Given the description of an element on the screen output the (x, y) to click on. 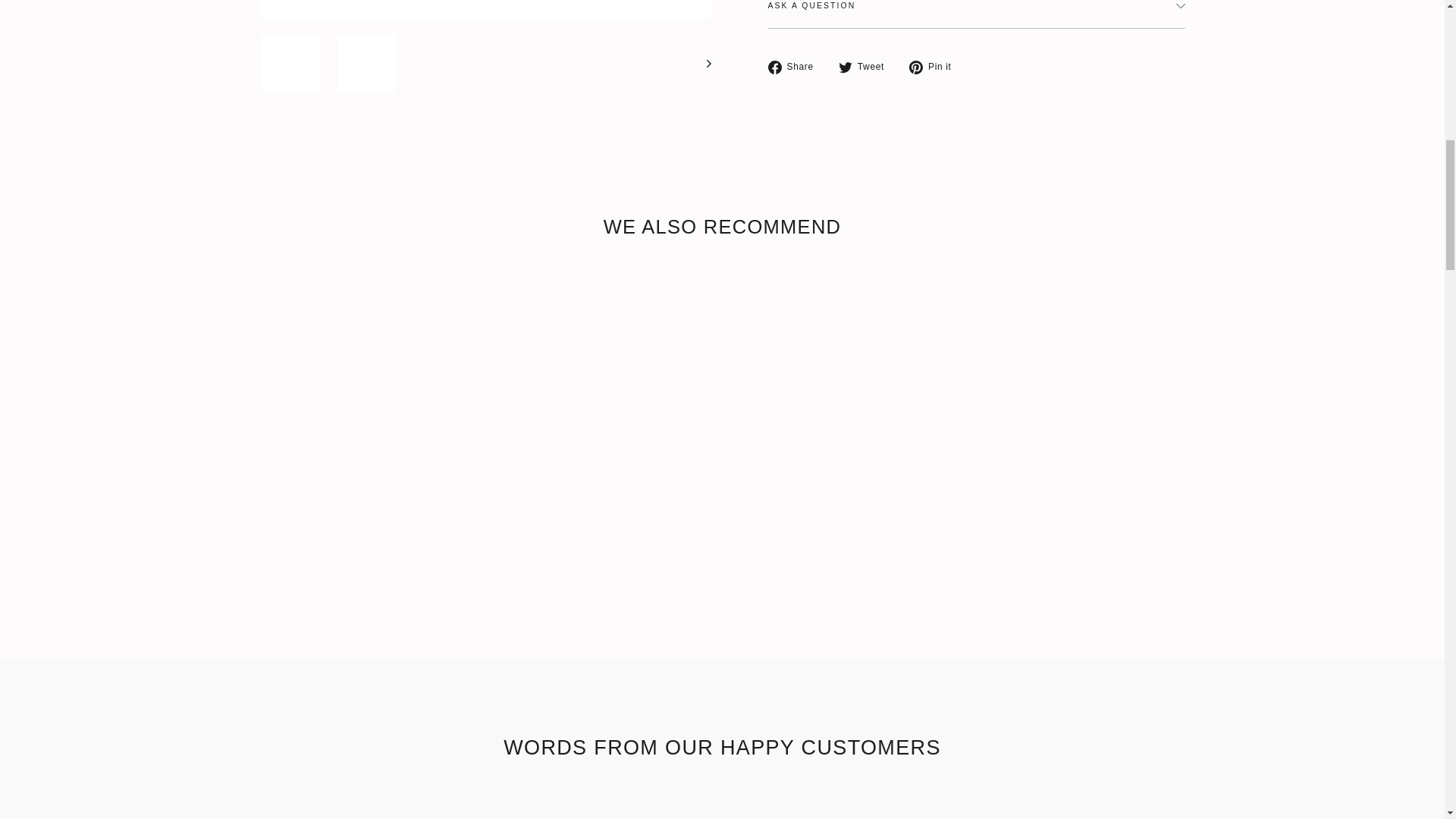
Tweet on Twitter (866, 66)
Share on Facebook (795, 66)
Pin on Pinterest (935, 66)
twitter (844, 67)
